Given the description of an element on the screen output the (x, y) to click on. 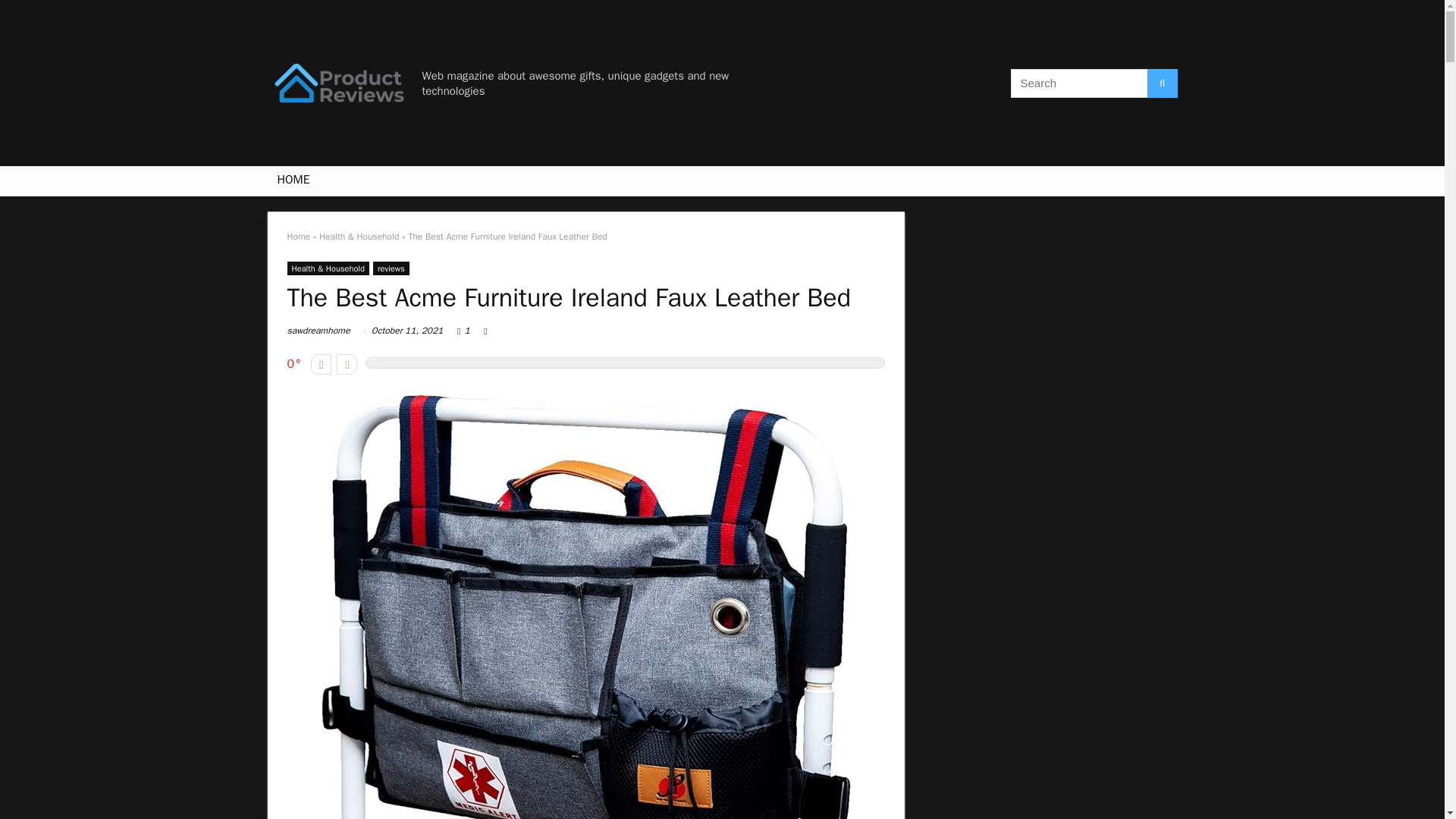
Vote down (321, 363)
sawdreamhome (317, 330)
HOME (292, 181)
Home (298, 236)
Vote up (346, 363)
reviews (390, 268)
View all posts in reviews (390, 268)
